Given the description of an element on the screen output the (x, y) to click on. 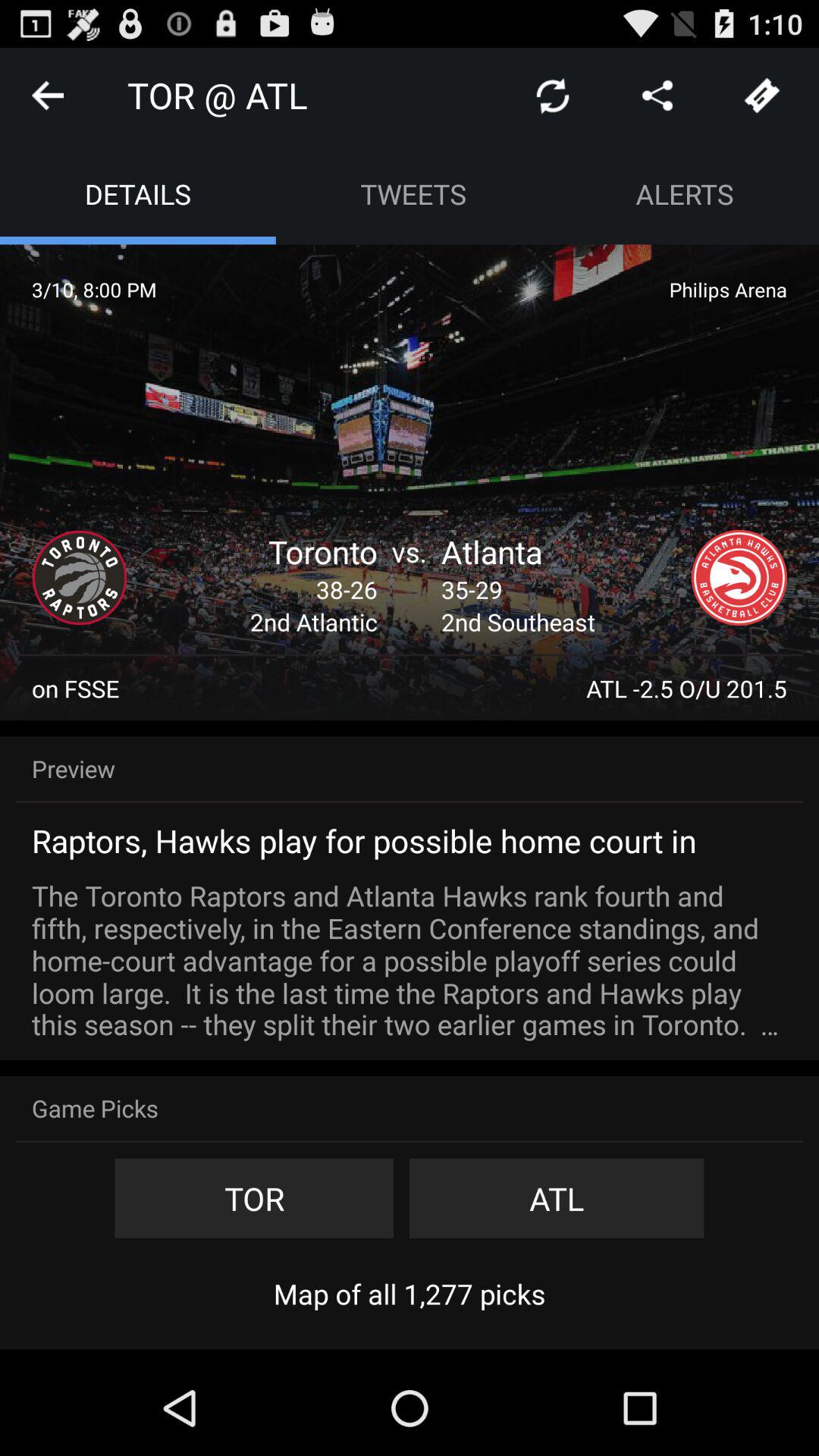
tap the icon next to tweets app (685, 193)
